Given the description of an element on the screen output the (x, y) to click on. 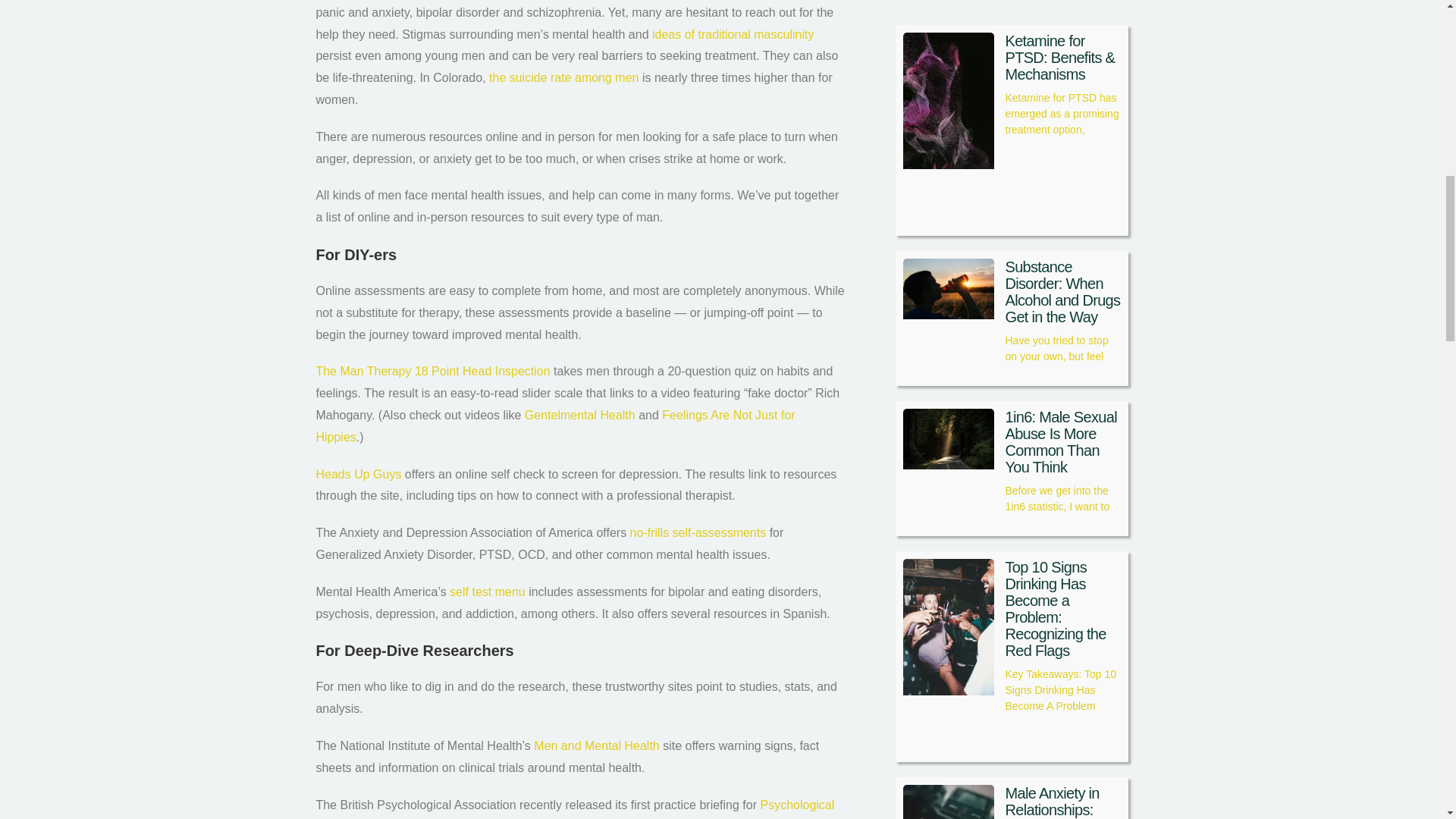
Gentelmental Health (579, 414)
Feelings Are Not Just for Hippies (554, 425)
ideas of traditional masculinity (732, 33)
the suicide rate among men (564, 77)
The Man Therapy 18 Point Head Inspection (432, 370)
